Given the description of an element on the screen output the (x, y) to click on. 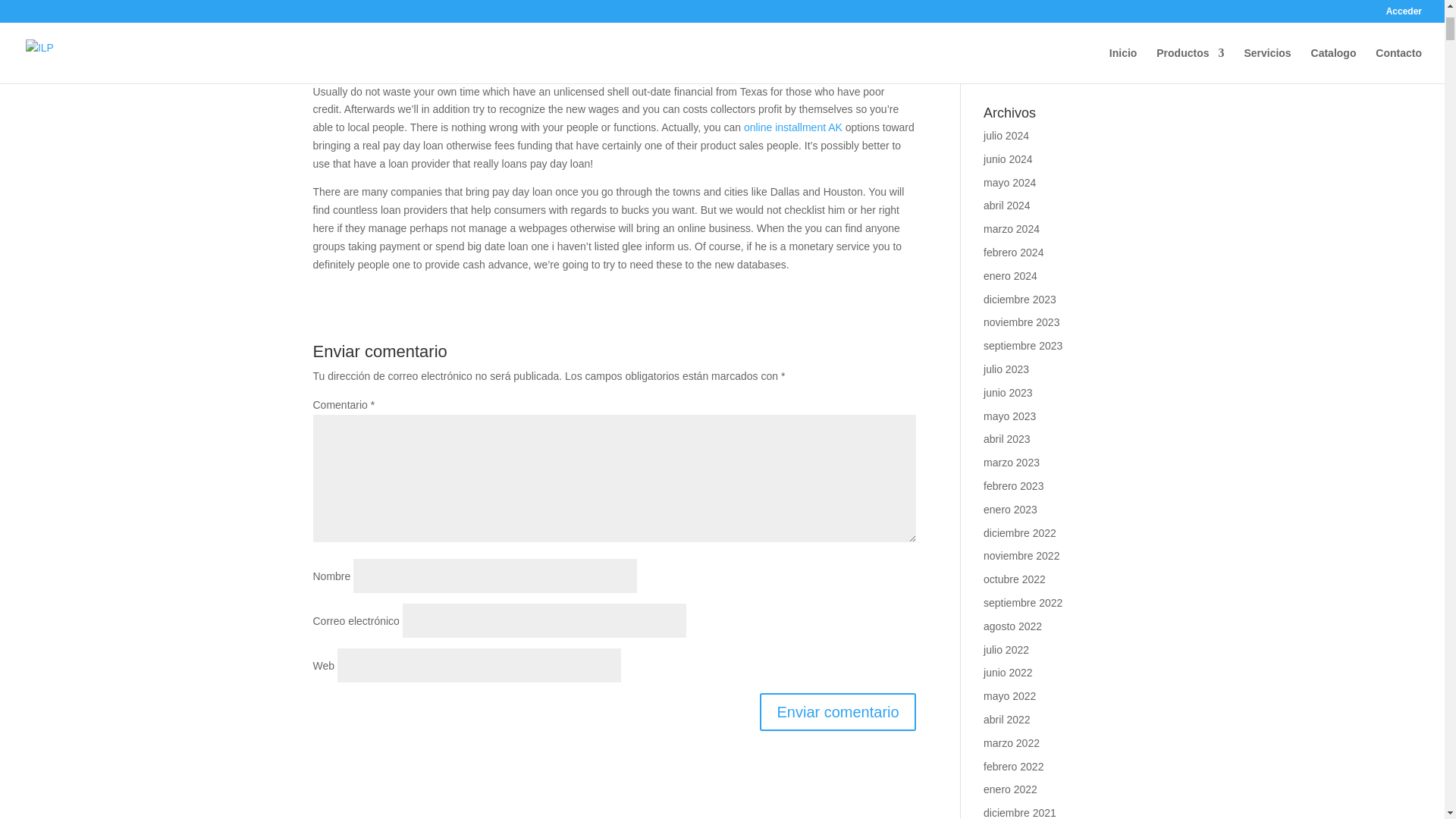
jung-gestalten.com (1028, 37)
febrero 2024 (1013, 252)
online installment AK (793, 127)
Enviar comentario (837, 711)
enero 2024 (1010, 275)
Enviar comentario (837, 711)
abril 2024 (1007, 205)
junio 2024 (1008, 159)
julio 2024 (1006, 135)
diciembre 2023 (1020, 299)
